Given the description of an element on the screen output the (x, y) to click on. 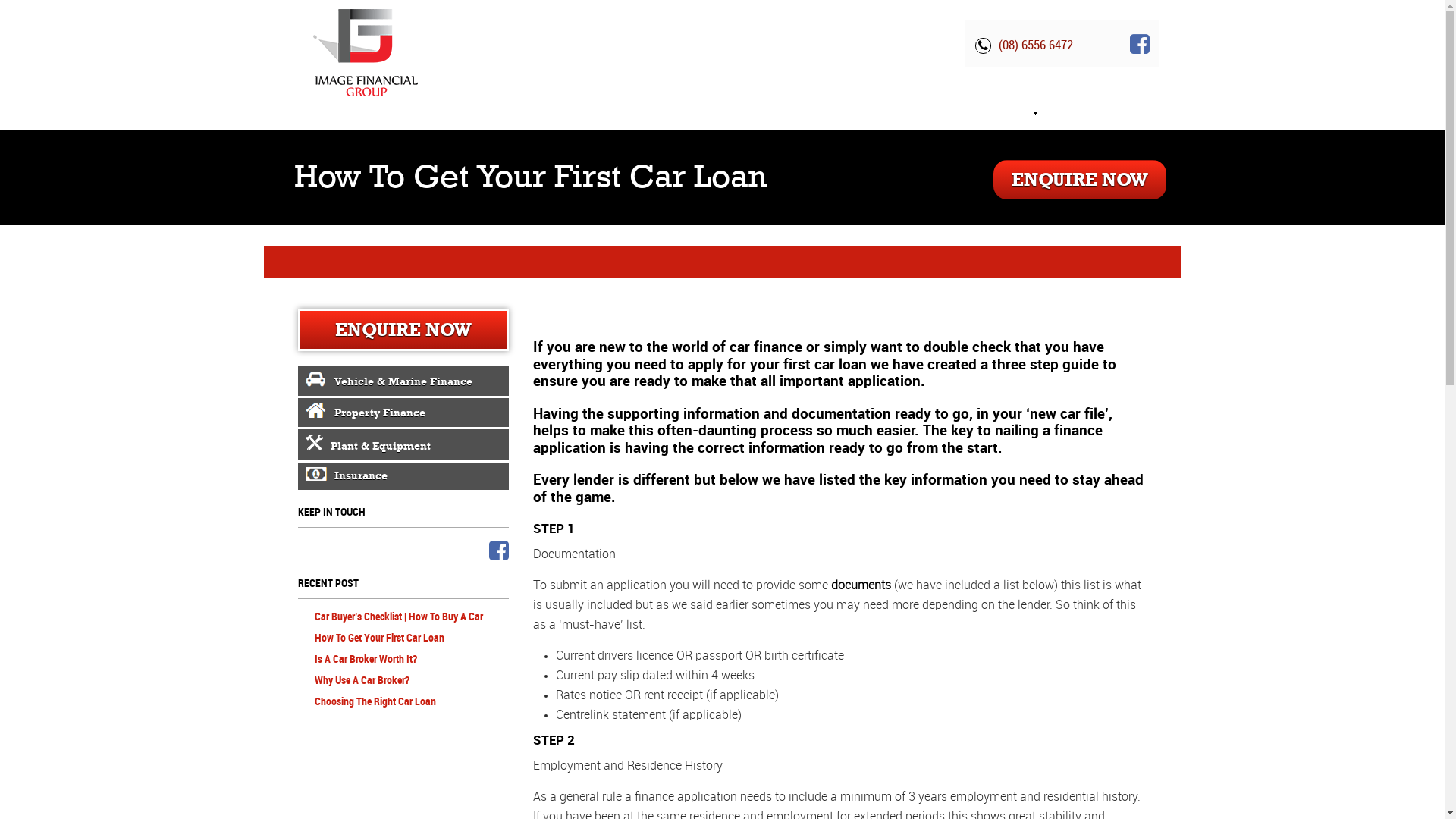
How To Get Your First Car Loan Element type: text (378, 637)
Our Services Element type: text (1002, 112)
Contact Us Element type: text (1096, 112)
Home Element type: text (837, 112)
Property Finance Element type: text (402, 412)
Is A Car Broker Worth It? Element type: text (364, 659)
Image Financial Group Element type: hover (365, 52)
Why Use A Car Broker? Element type: text (360, 680)
Facebook Element type: hover (498, 551)
ENQUIRE NOW Element type: text (1079, 179)
Choosing The Right Car Loan Element type: text (374, 701)
(08) 6556 6472 Element type: text (1024, 43)
Insurance Element type: text (402, 475)
Plant & Equipment Element type: text (402, 444)
About Us Element type: text (912, 112)
Facebook Element type: hover (1139, 45)
Vehicle & Marine Finance Element type: text (402, 380)
ENQUIRE NOW Element type: text (402, 329)
